Given the description of an element on the screen output the (x, y) to click on. 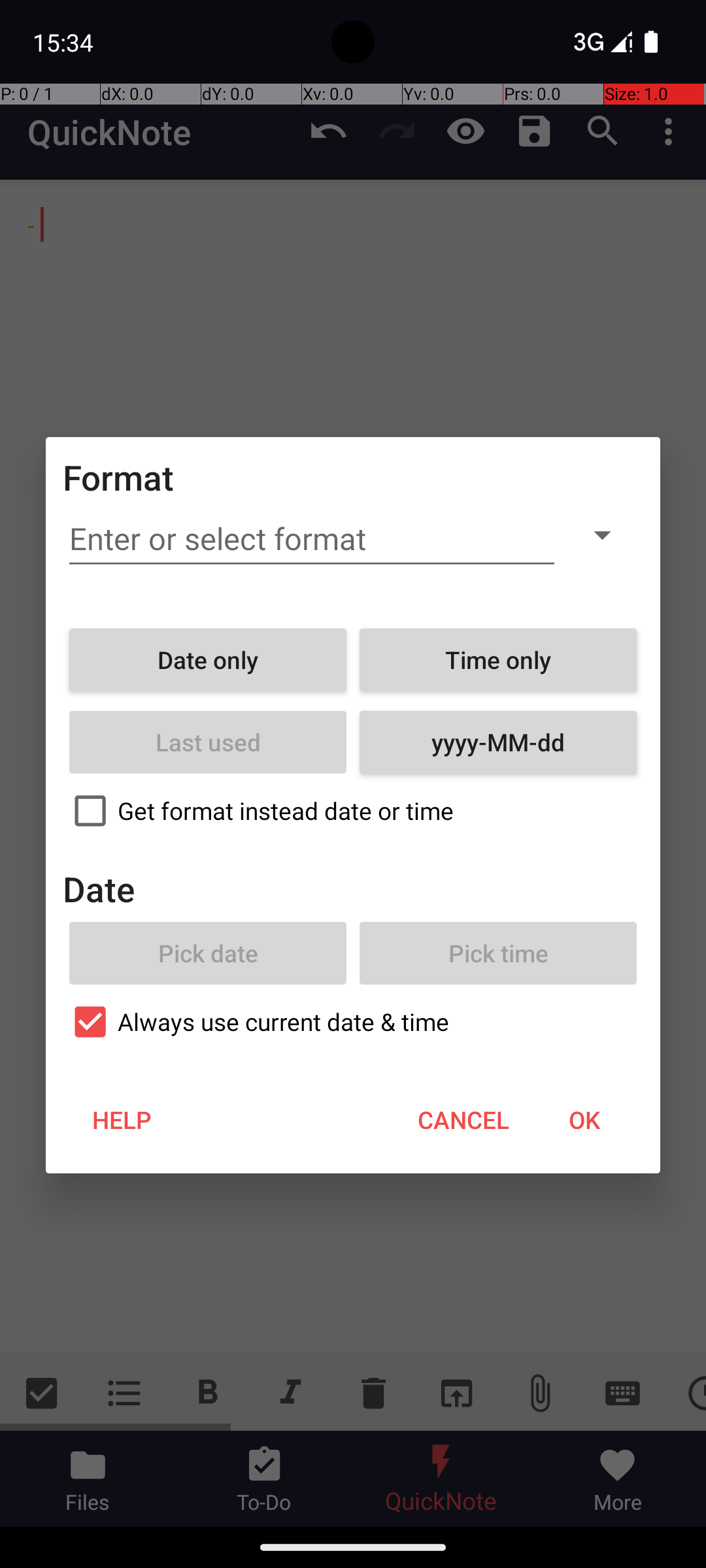
Format Element type: android.widget.TextView (118, 477)
Enter or select format Element type: android.widget.EditText (311, 538)
Choose format Element type: android.widget.TextView (601, 534)
Date only Element type: android.widget.Button (207, 659)
Time only Element type: android.widget.Button (498, 659)
Last used Element type: android.widget.Button (207, 742)
yyyy-MM-dd Element type: android.widget.Button (498, 742)
Get format instead date or time Element type: android.widget.CheckBox (352, 810)
Pick date Element type: android.widget.Button (207, 953)
Pick time Element type: android.widget.Button (498, 953)
Always use current date & time Element type: android.widget.CheckBox (352, 1021)
HELP Element type: android.widget.Button (121, 1119)
